Given the description of an element on the screen output the (x, y) to click on. 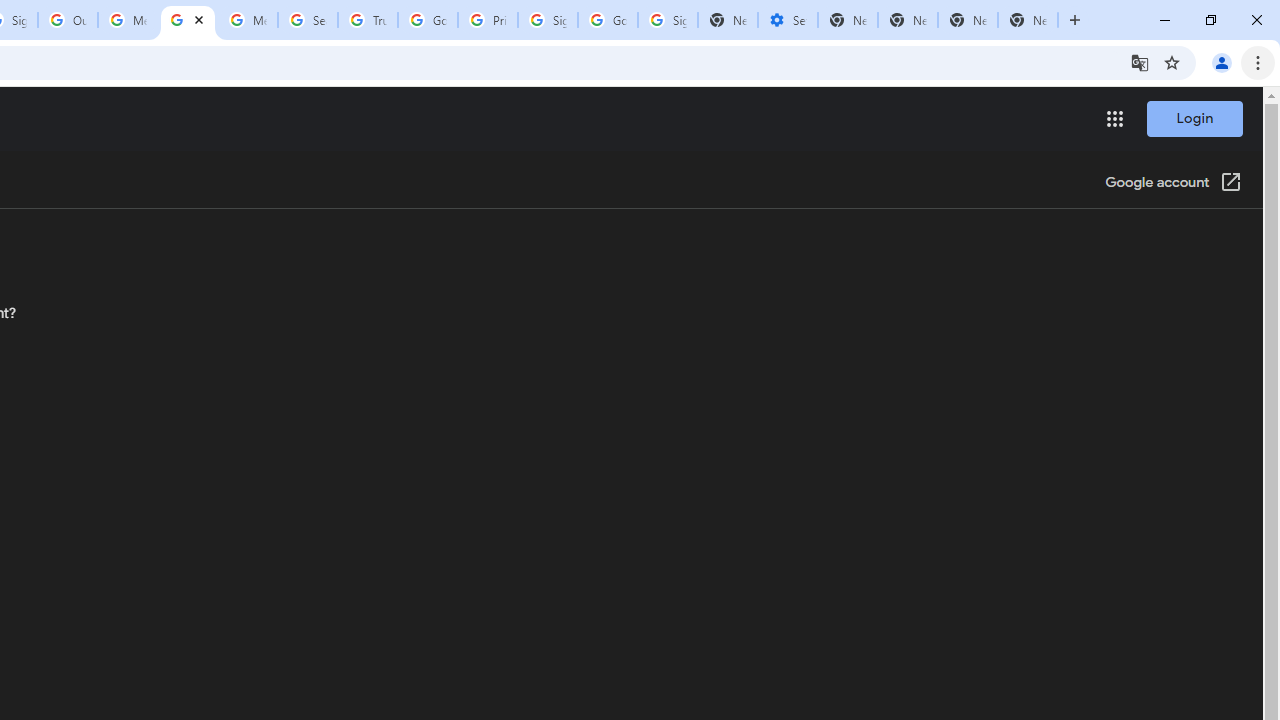
Login (1194, 118)
New Tab (1028, 20)
Turn cookies on or off - Computer - Google Account Help (187, 20)
Google Ads - Sign in (428, 20)
Settings - Performance (787, 20)
Trusted Information and Content - Google Safety Center (367, 20)
Google Cybersecurity Innovations - Google Safety Center (607, 20)
Sign in - Google Accounts (548, 20)
